Given the description of an element on the screen output the (x, y) to click on. 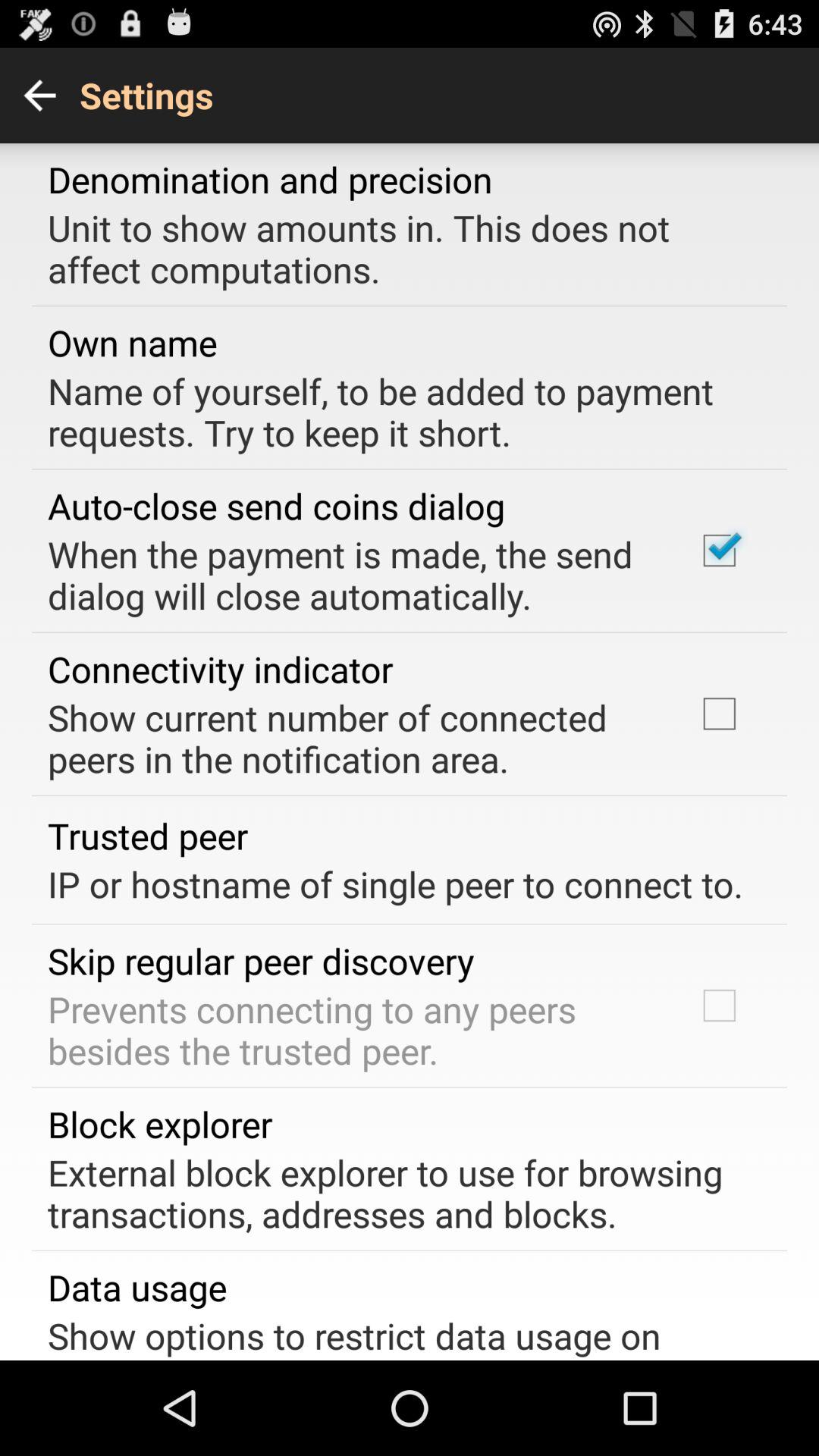
turn on the icon below when the payment app (220, 668)
